Given the description of an element on the screen output the (x, y) to click on. 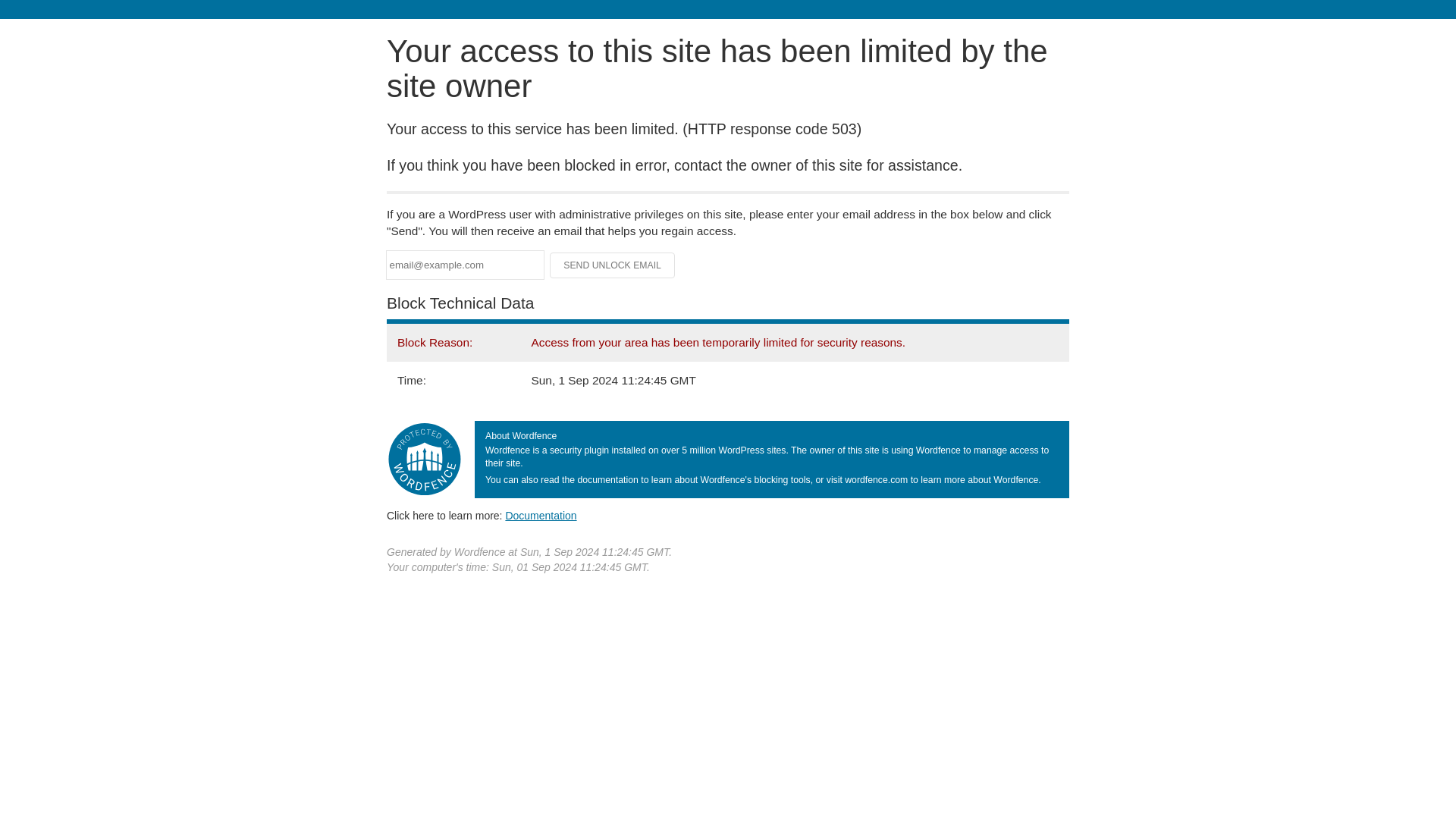
Documentation (540, 515)
Send Unlock Email (612, 265)
Send Unlock Email (612, 265)
